Given the description of an element on the screen output the (x, y) to click on. 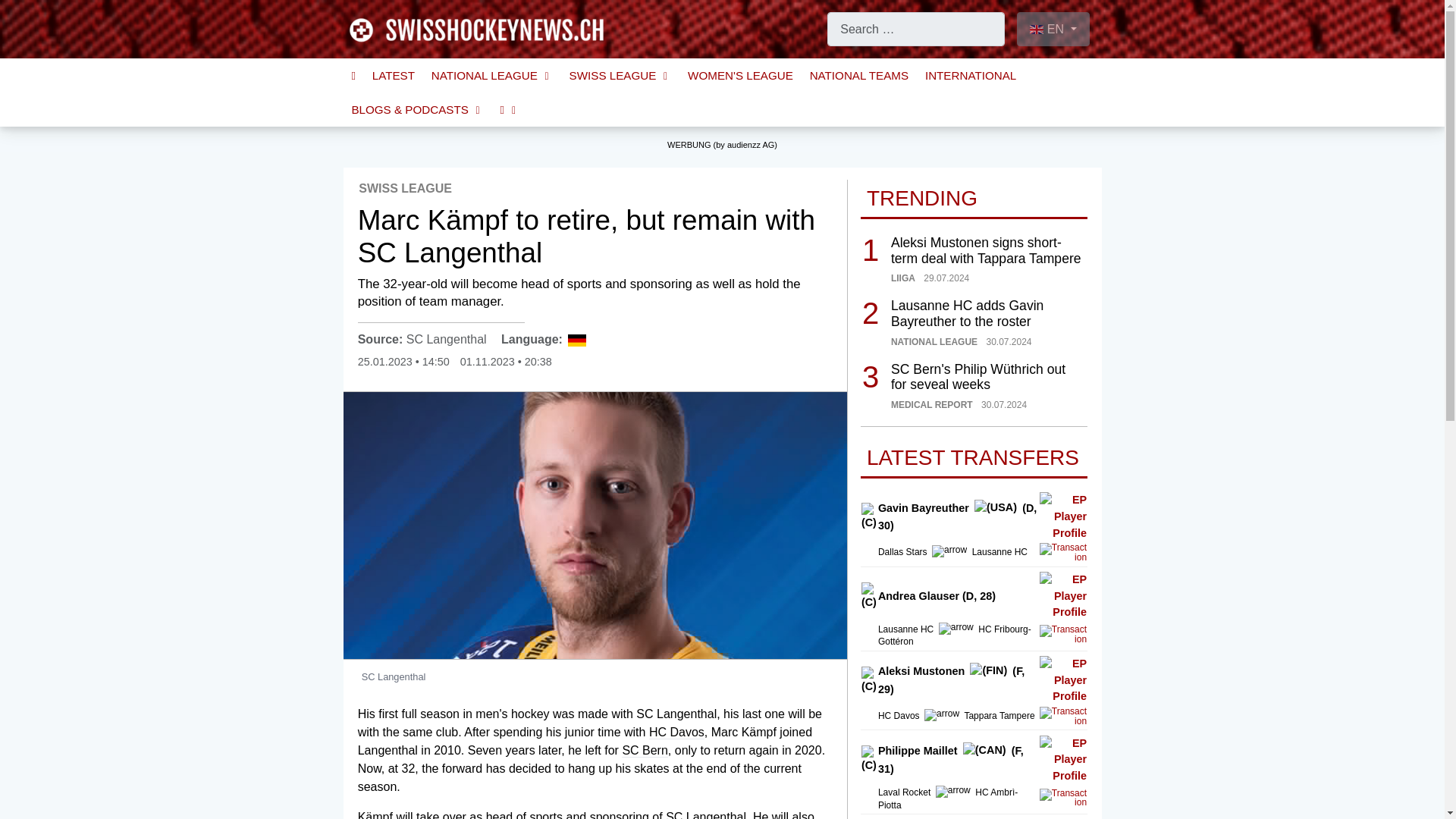
EN (1052, 28)
HCD: News, Kader, und Transfers (676, 732)
NATIONAL LEAGUE (491, 75)
LATEST (393, 75)
SCB: News, Kader, und Transfers (643, 750)
